Given the description of an element on the screen output the (x, y) to click on. 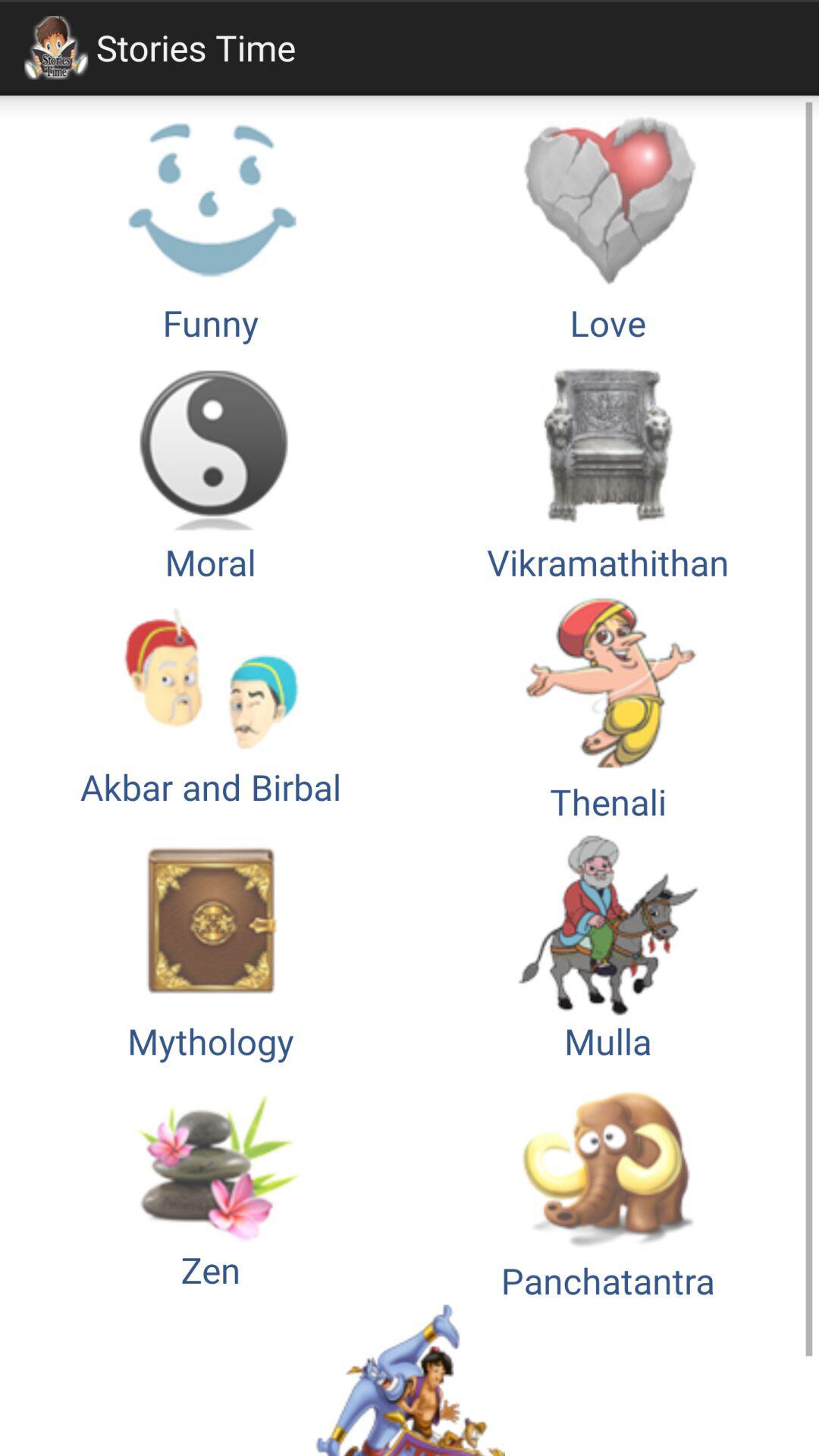
tap item below panchatantra button (409, 1380)
